Given the description of an element on the screen output the (x, y) to click on. 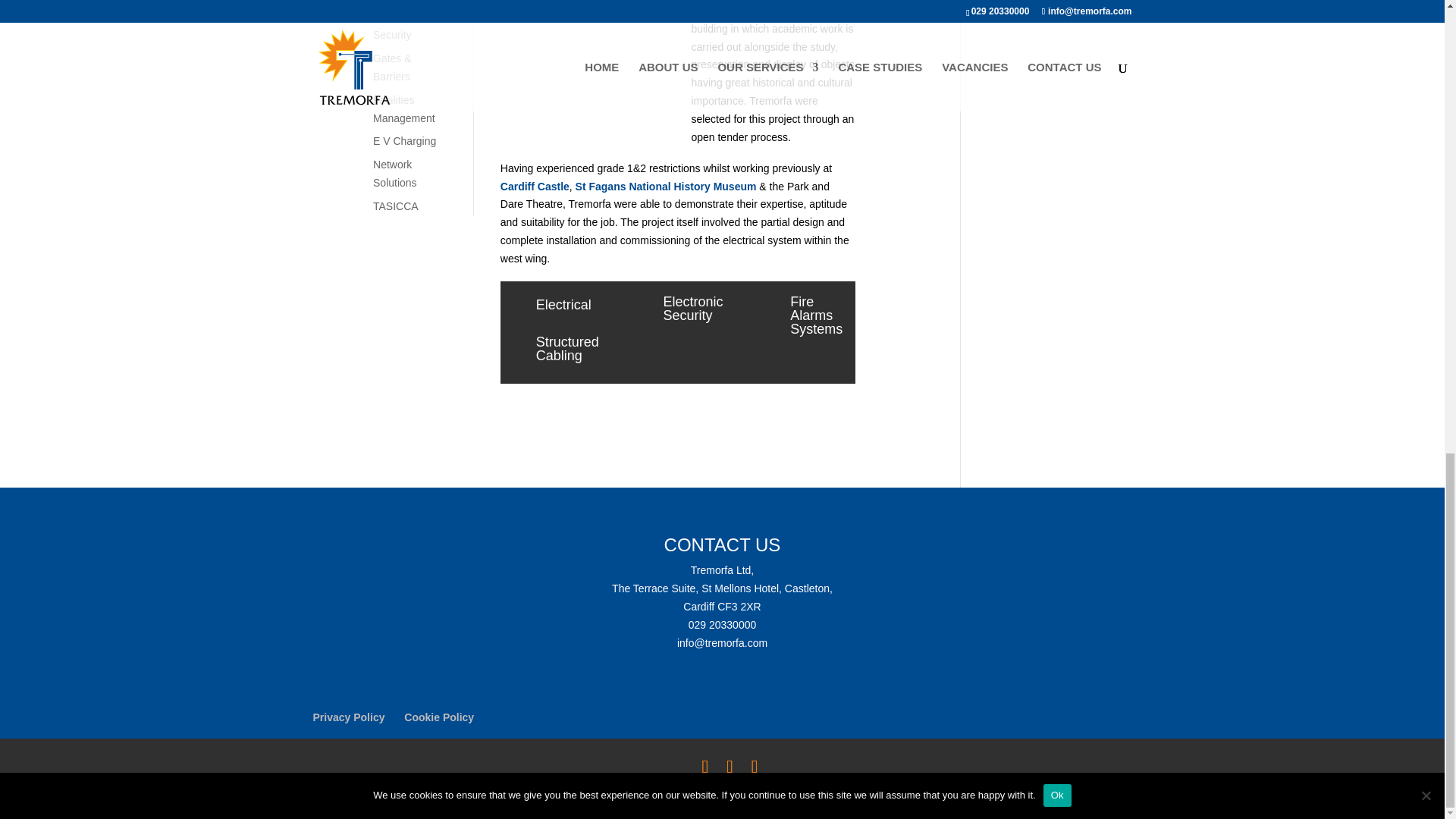
Electronic Security (395, 26)
